Given the description of an element on the screen output the (x, y) to click on. 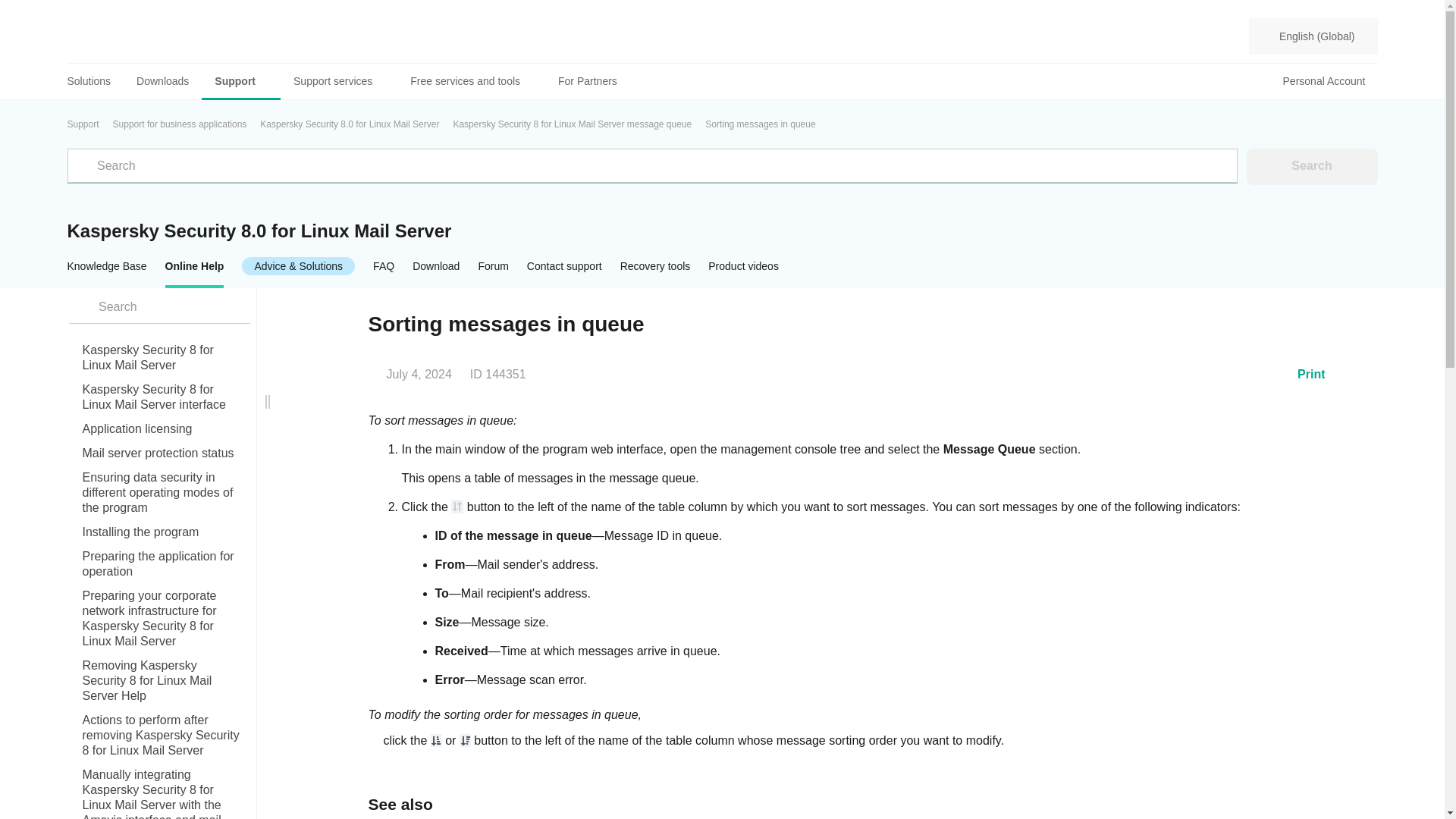
Solutions (94, 81)
Free services and tools (470, 81)
Support (241, 81)
Kaspersky (122, 37)
For Partners (587, 81)
product-search (158, 306)
Support services (339, 81)
Downloads (162, 81)
